Given the description of an element on the screen output the (x, y) to click on. 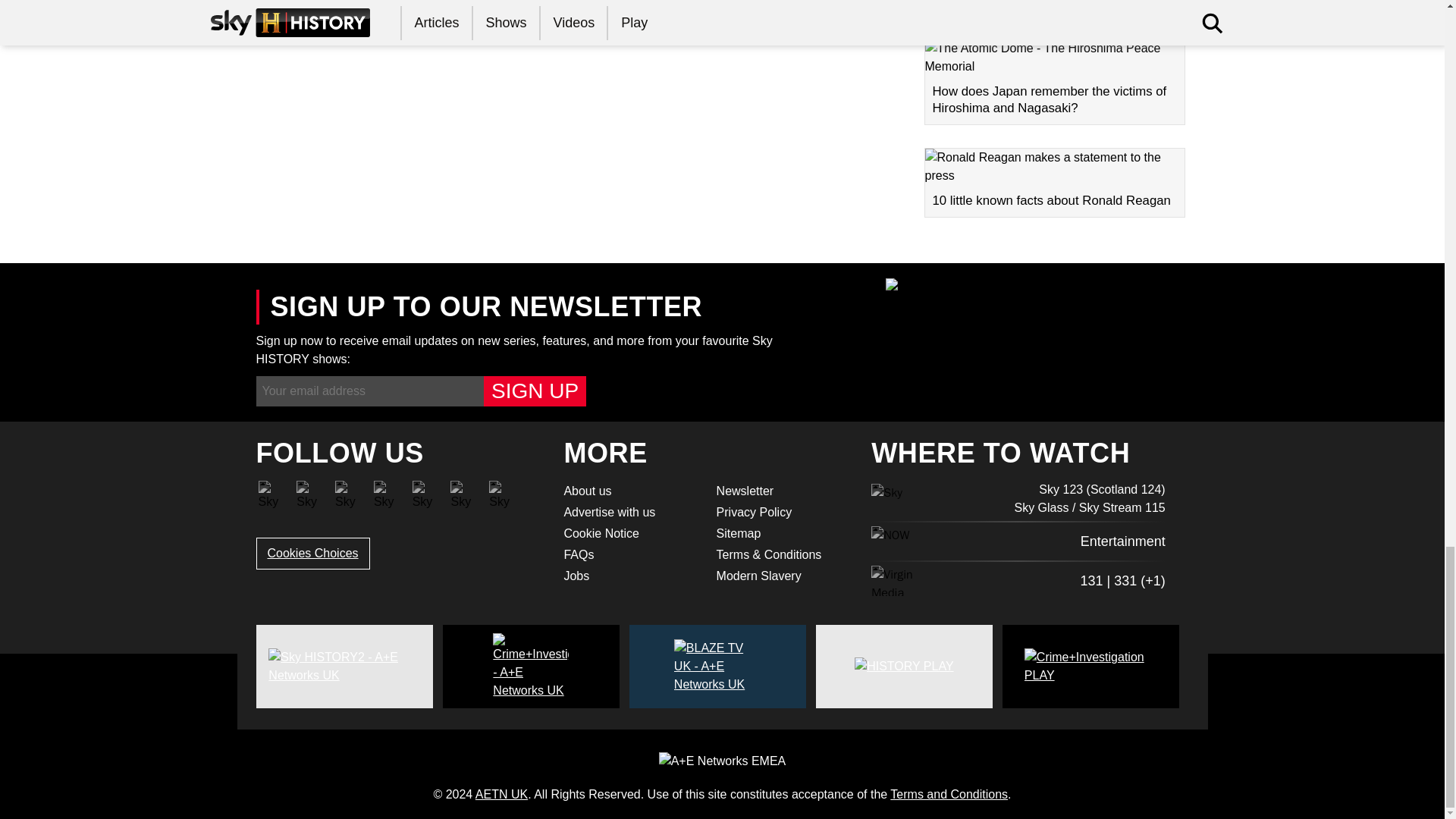
Sign Up (534, 390)
Cookie Notice (630, 533)
Modern Slavery (783, 576)
Newsletter (783, 491)
Sitemap (783, 533)
Are aliens or artists behind the monolith mystery (1054, 8)
Sitemap of the site (783, 533)
FAQs (630, 555)
Jobs (630, 576)
